Given the description of an element on the screen output the (x, y) to click on. 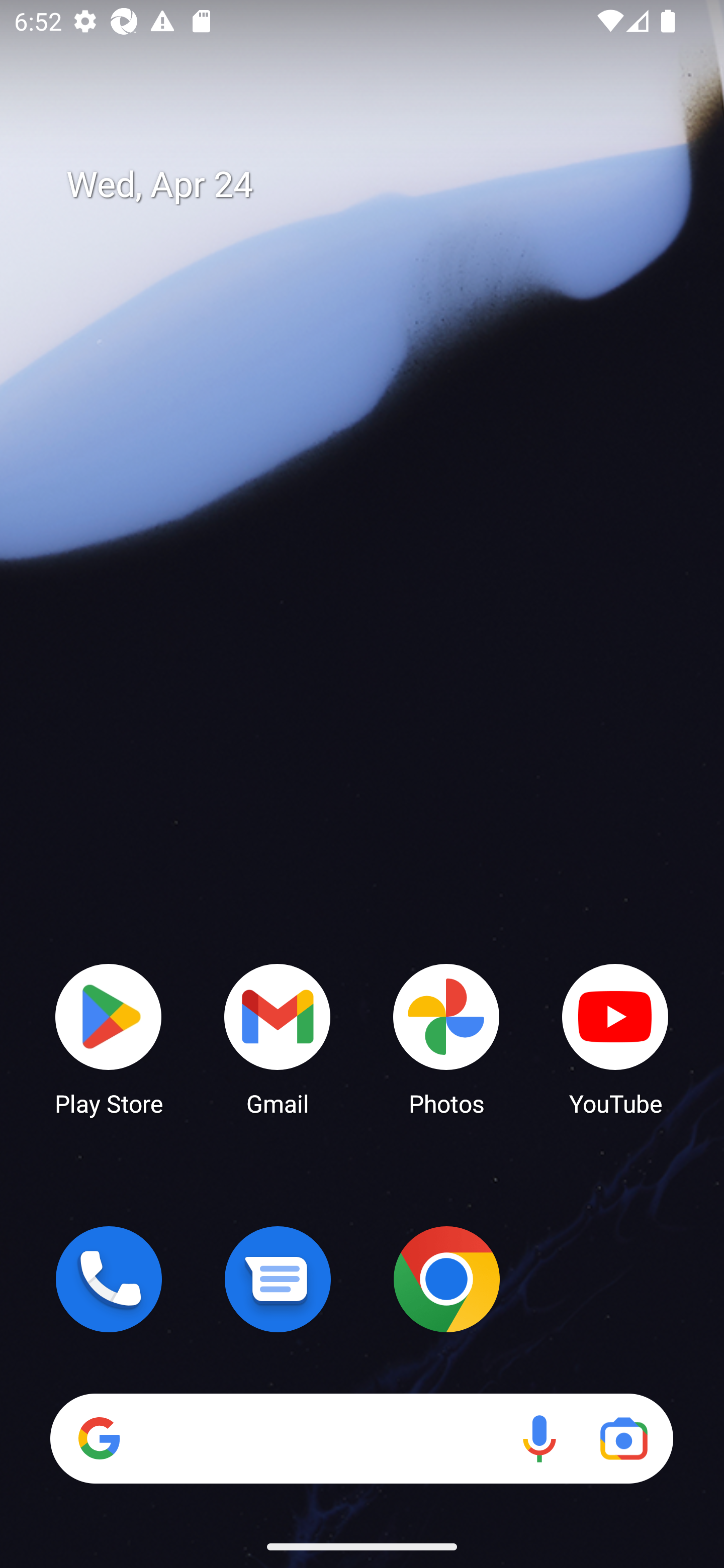
Wed, Apr 24 (375, 184)
Play Store (108, 1038)
Gmail (277, 1038)
Photos (445, 1038)
YouTube (615, 1038)
Phone (108, 1279)
Messages (277, 1279)
Chrome (446, 1279)
Search Voice search Google Lens (361, 1438)
Voice search (539, 1438)
Google Lens (623, 1438)
